Given the description of an element on the screen output the (x, y) to click on. 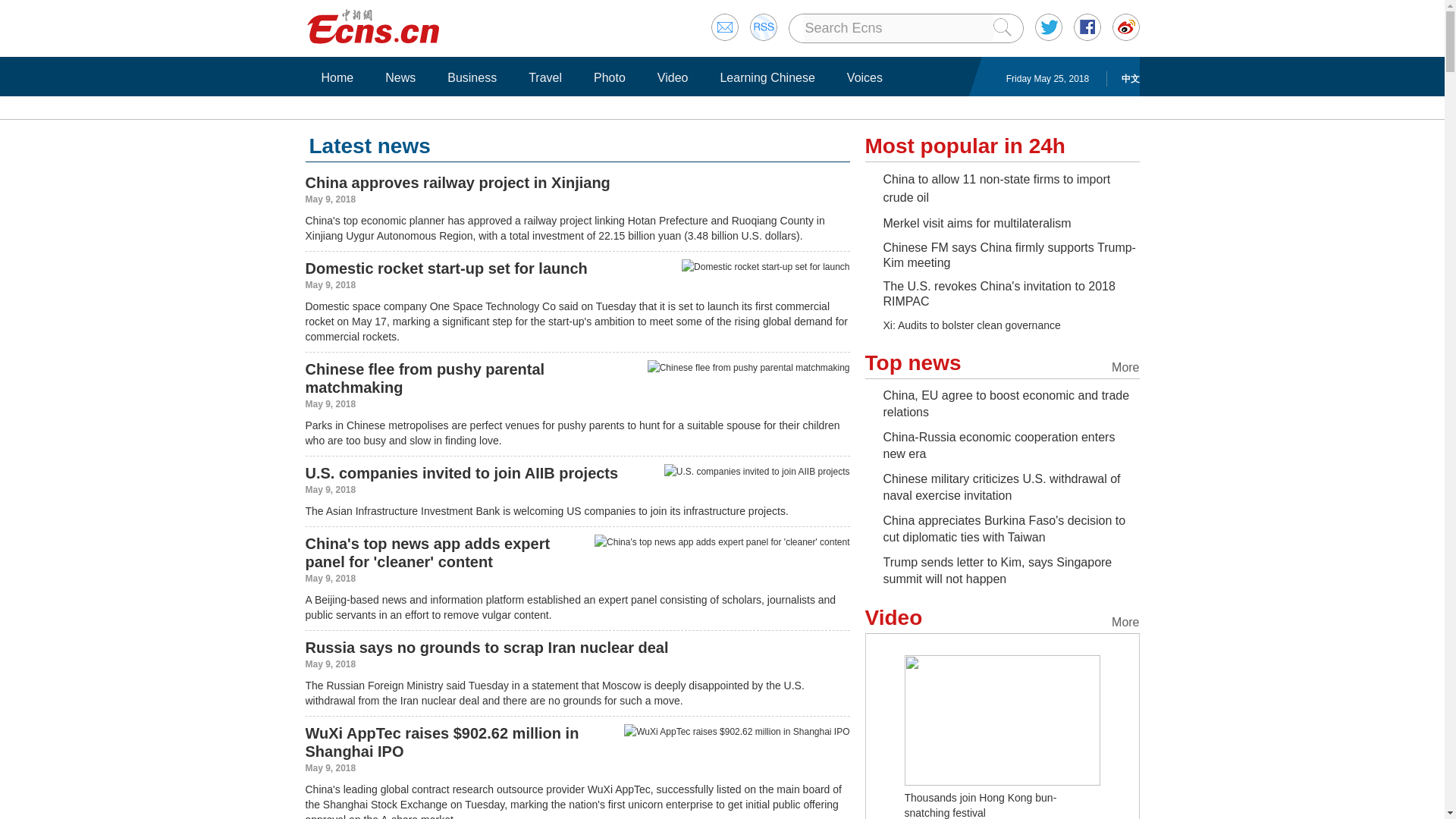
Voices (864, 77)
The U.S. revokes China's invitation to 2018 RIMPAC (998, 293)
Merkel visit aims for multilateralism (976, 223)
News (400, 77)
Domestic rocket start-up set for launch (445, 268)
Home (337, 77)
Chinese flee from pushy parental matchmaking (424, 378)
China approves railway project in Xinjiang (457, 182)
Video (673, 77)
Russia says no grounds to scrap Iran nuclear deal (486, 647)
